Given the description of an element on the screen output the (x, y) to click on. 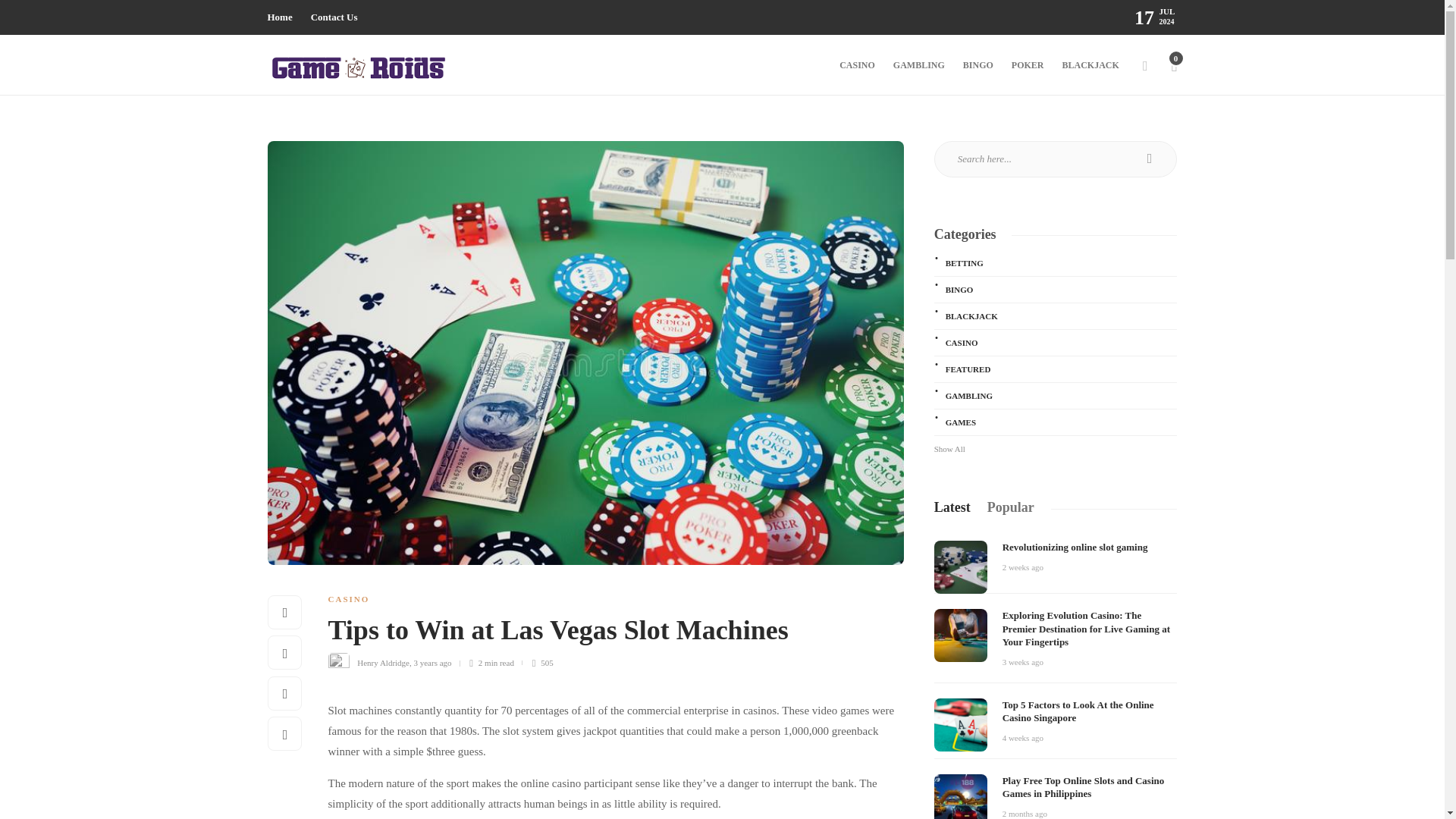
Search text (1055, 158)
Tips to Win at Las Vegas Slot Machines   (603, 634)
CASINO (857, 65)
3 years ago (432, 662)
POKER (1027, 65)
CASINO (348, 598)
Contact Us (334, 17)
GAMBLING (918, 65)
0 (1173, 65)
Home (279, 17)
BLACKJACK (1090, 65)
BINGO (977, 65)
Henry Aldridge (382, 662)
